Given the description of an element on the screen output the (x, y) to click on. 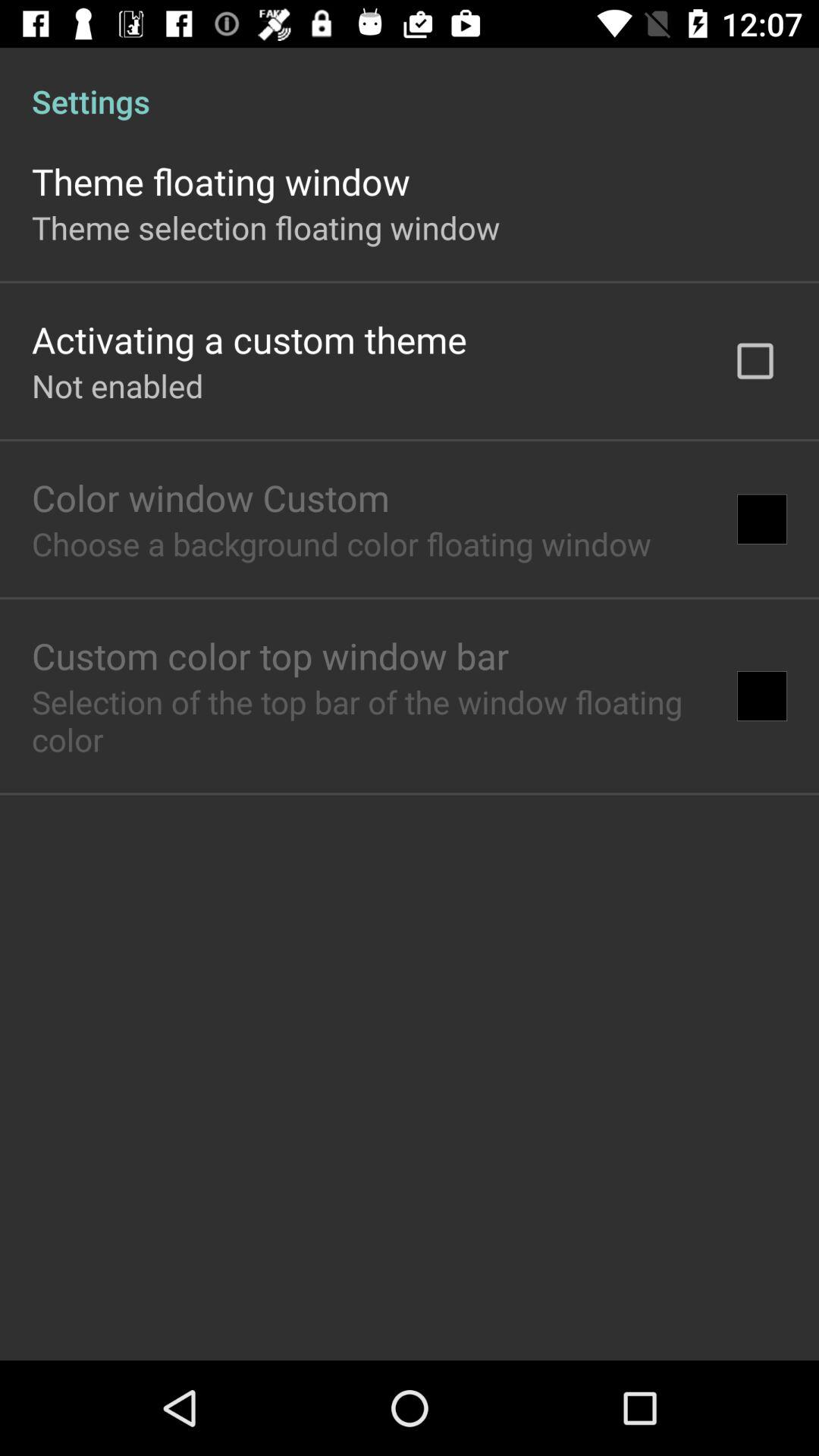
turn off the icon above the color window custom app (117, 385)
